Given the description of an element on the screen output the (x, y) to click on. 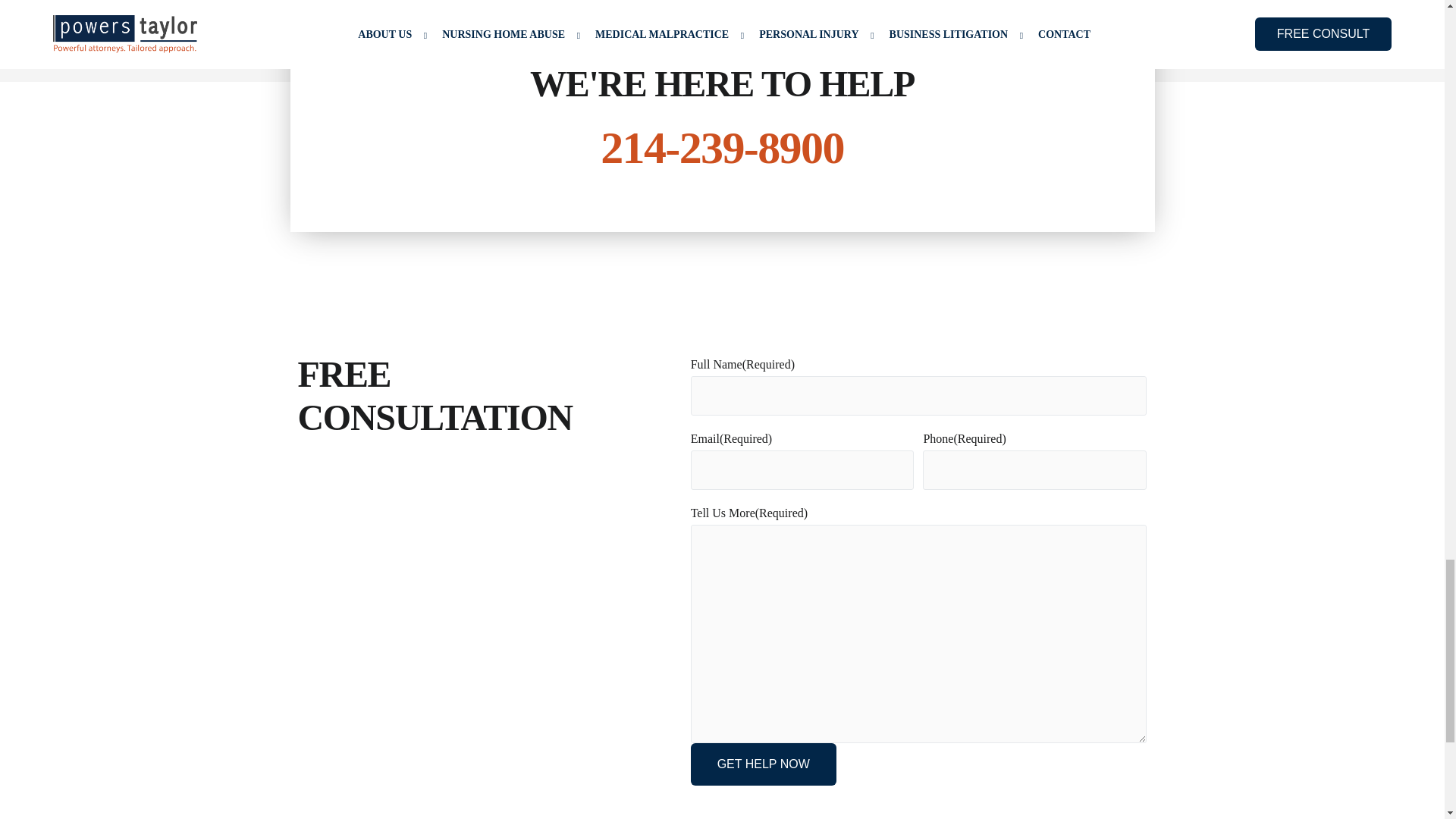
Get Help Now (762, 763)
